Given the description of an element on the screen output the (x, y) to click on. 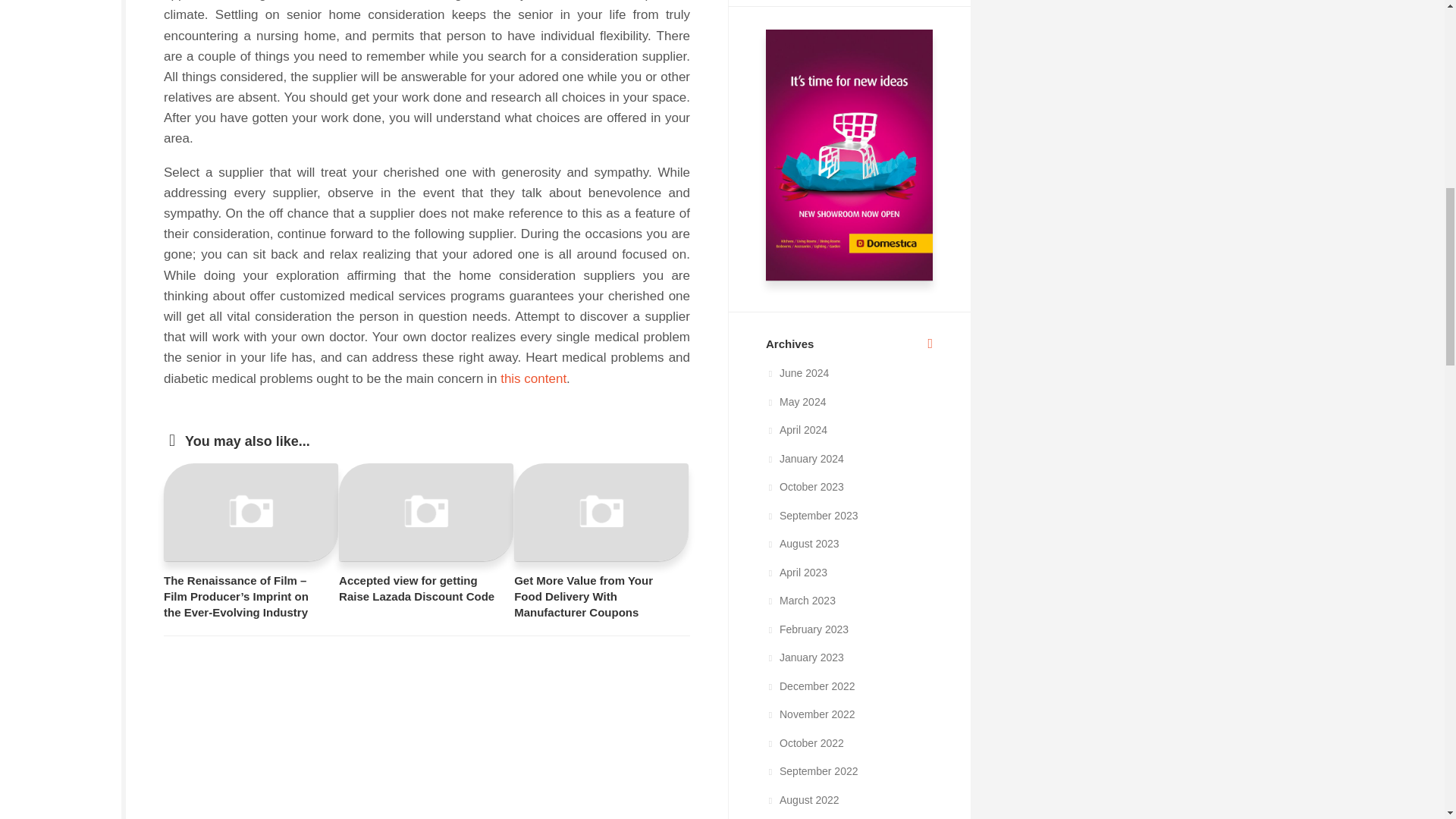
this content (533, 378)
January 2024 (804, 458)
December 2022 (810, 686)
February 2023 (806, 629)
January 2023 (804, 657)
Accepted view for getting Raise Lazada Discount Code (417, 588)
April 2024 (796, 429)
August 2023 (802, 543)
September 2023 (812, 515)
May 2024 (795, 401)
June 2024 (796, 372)
March 2023 (800, 600)
August 2022 (802, 799)
September 2022 (812, 770)
November 2022 (810, 714)
